Given the description of an element on the screen output the (x, y) to click on. 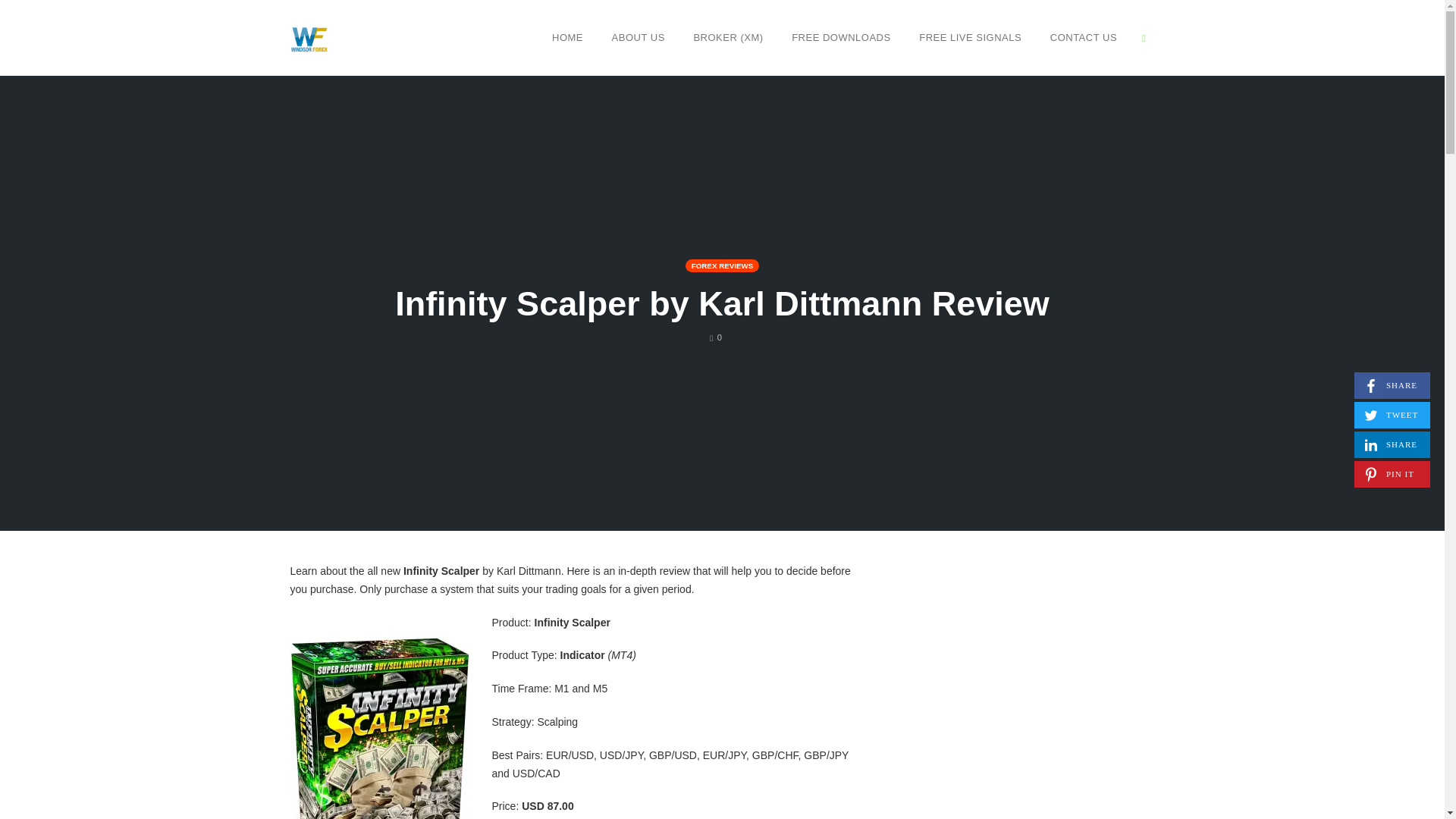
FREE LIVE SIGNALS (970, 37)
CONTACT US (1391, 385)
Infinity Scalper by Karl Dittmann Review (1391, 444)
FREE DOWNLOADS (1083, 37)
HOME (721, 303)
FOREX REVIEWS (716, 337)
ABOUT US (841, 37)
